Given the description of an element on the screen output the (x, y) to click on. 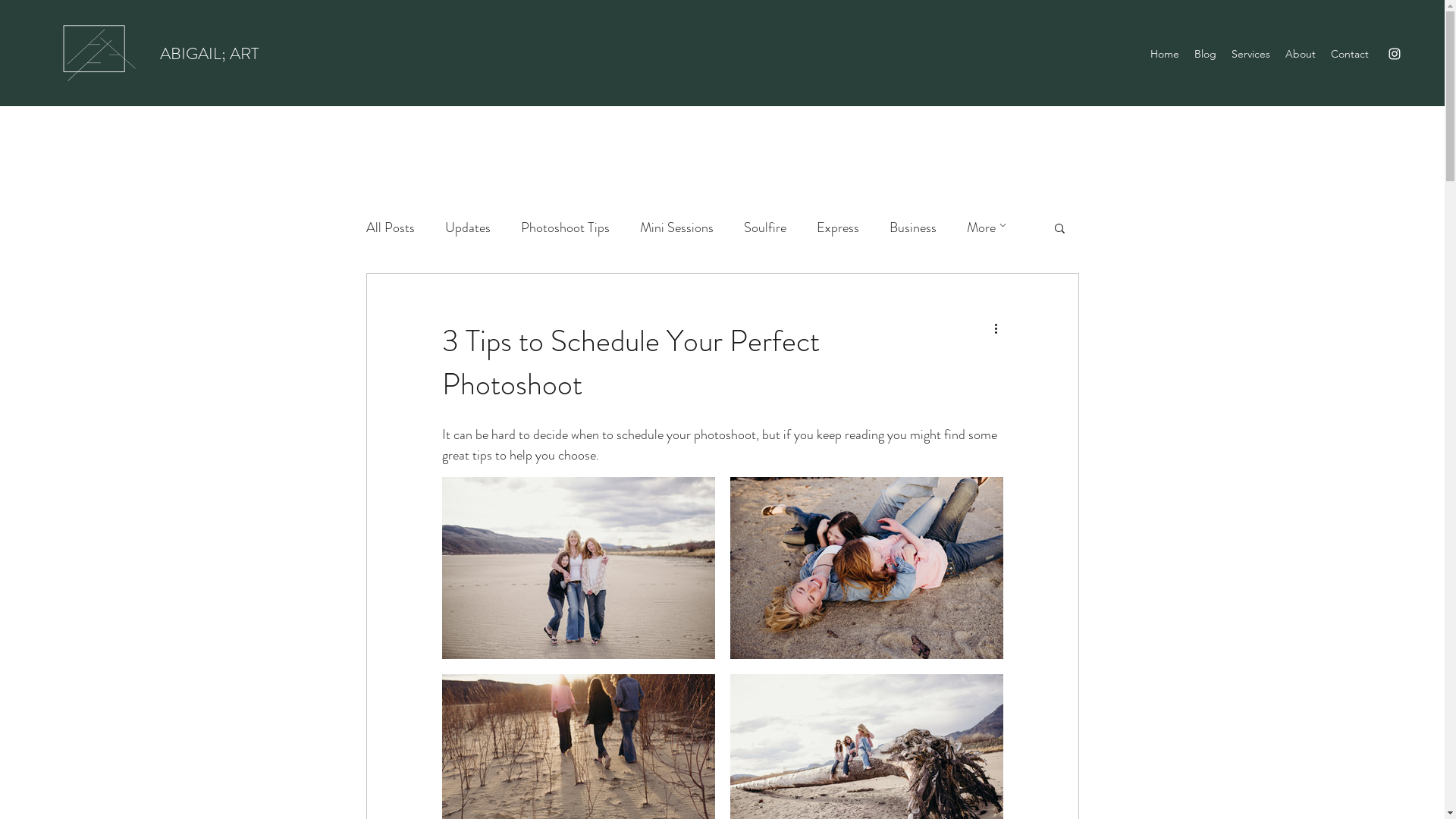
All Posts Element type: text (389, 227)
Photoshoot Tips Element type: text (564, 227)
Soulfire Element type: text (764, 227)
Business Element type: text (911, 227)
Updates Element type: text (466, 227)
Contact Element type: text (1349, 53)
Services Element type: text (1250, 53)
About Element type: text (1300, 53)
Express Element type: text (836, 227)
Home Element type: text (1164, 53)
Blog Element type: text (1204, 53)
Mini Sessions Element type: text (676, 227)
